Given the description of an element on the screen output the (x, y) to click on. 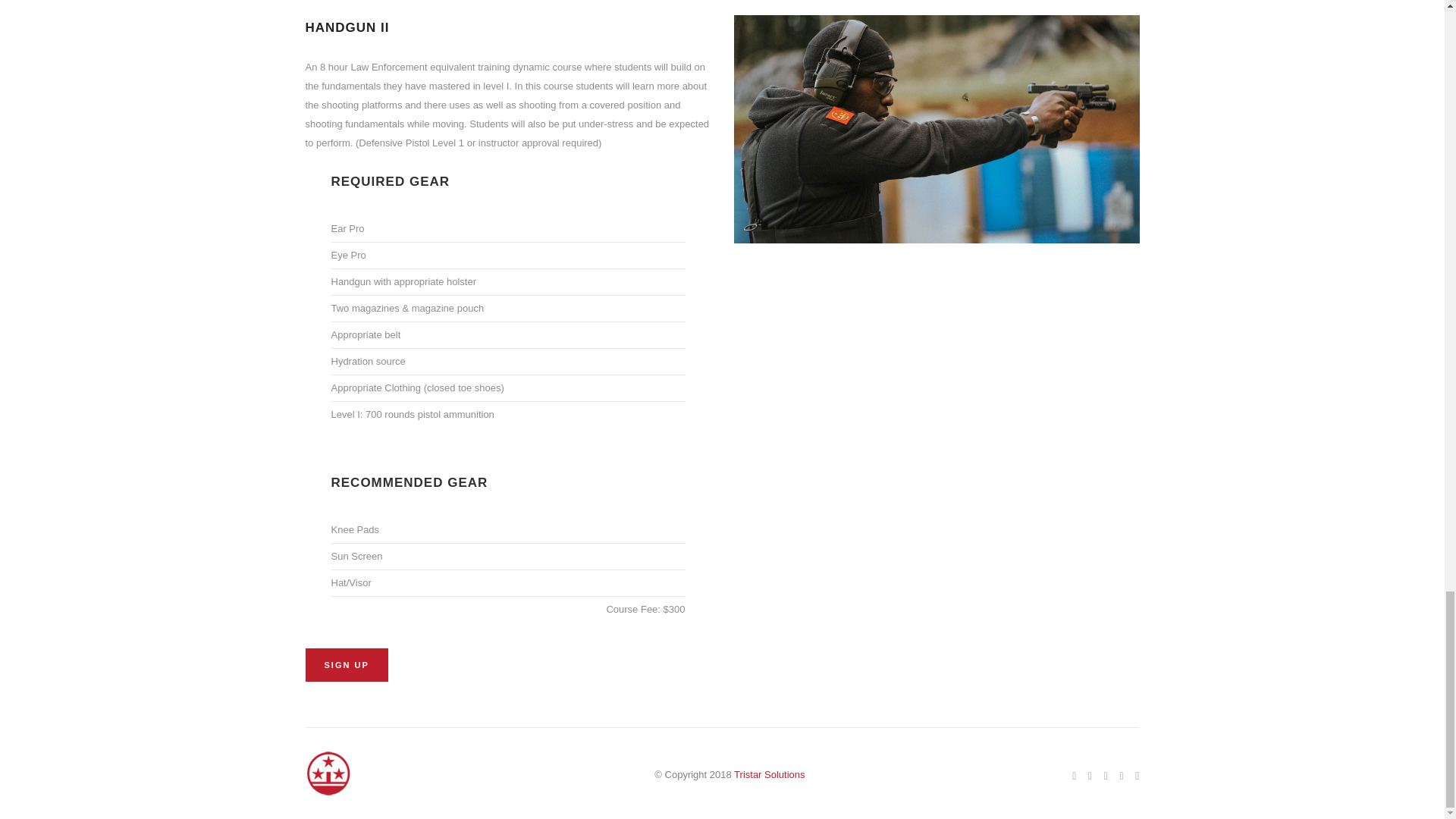
SIGN UP (345, 664)
